Given the description of an element on the screen output the (x, y) to click on. 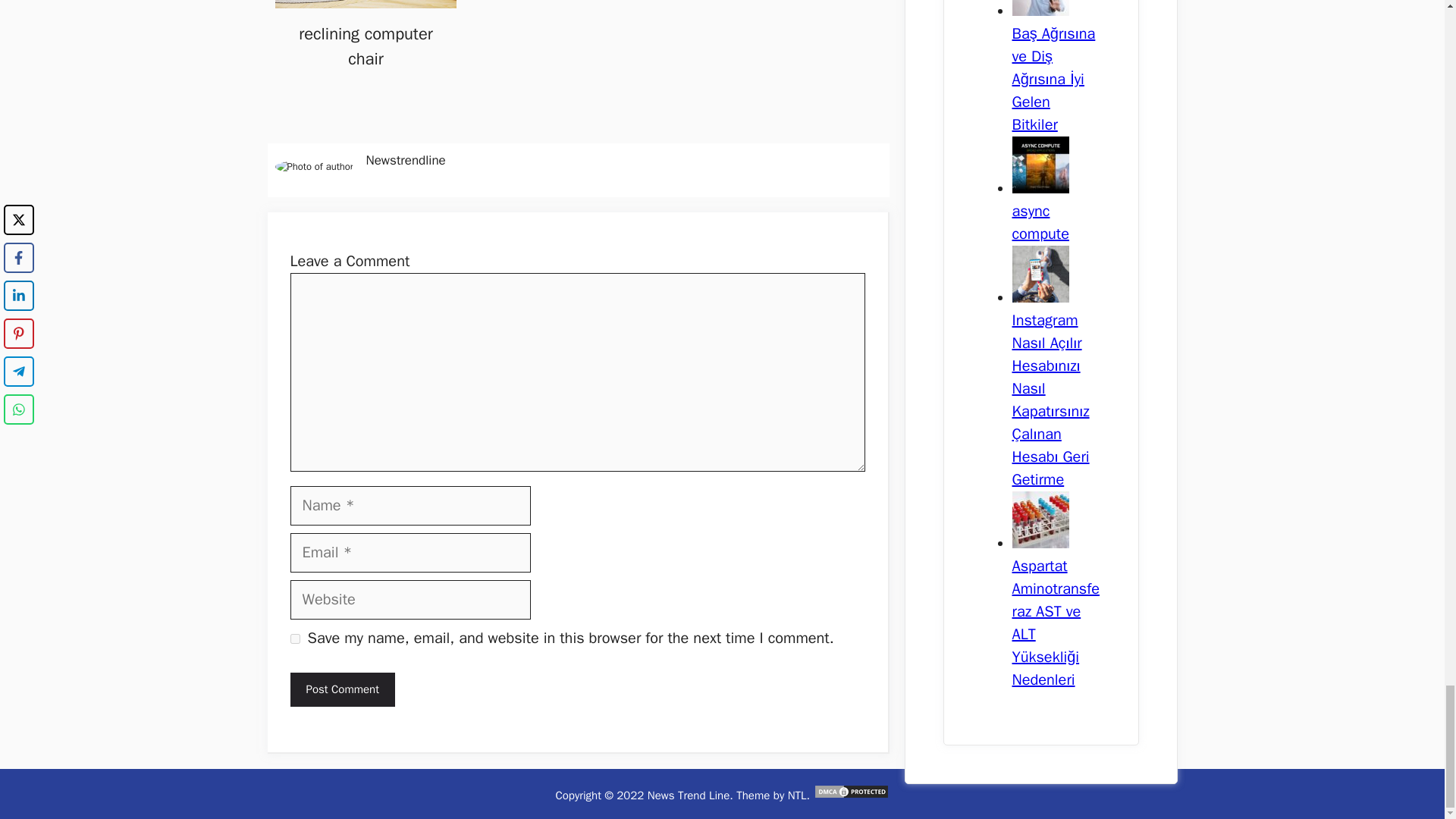
Post Comment (341, 689)
Content Protection by DMCA.com (851, 795)
reclining computer chair (365, 46)
yes (294, 638)
